Given the description of an element on the screen output the (x, y) to click on. 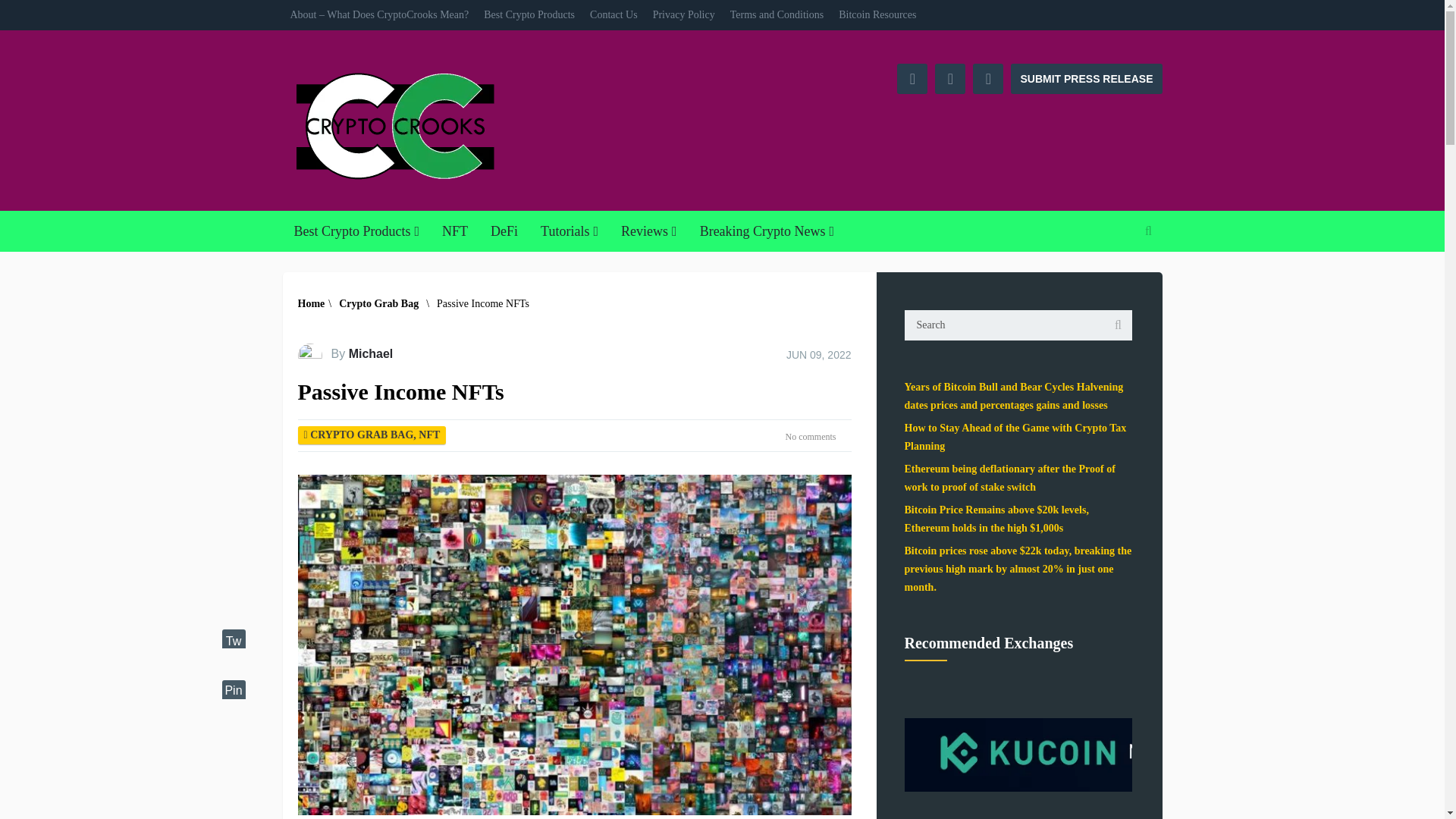
Privacy Policy (683, 15)
View all posts in Crypto Grab Bag (361, 434)
Best Crypto Products (529, 15)
Terms and Conditions (776, 15)
Breaking Crypto News (766, 230)
SUBMIT PRESS RELEASE (1085, 78)
NFT (454, 230)
Reviews (649, 230)
Bitcoin Resources (877, 15)
Tutorials (569, 230)
Best Crypto Products (356, 230)
View all posts in NFT (429, 434)
Contact Us (613, 15)
Posts by Michael (371, 353)
DeFi (504, 230)
